Given the description of an element on the screen output the (x, y) to click on. 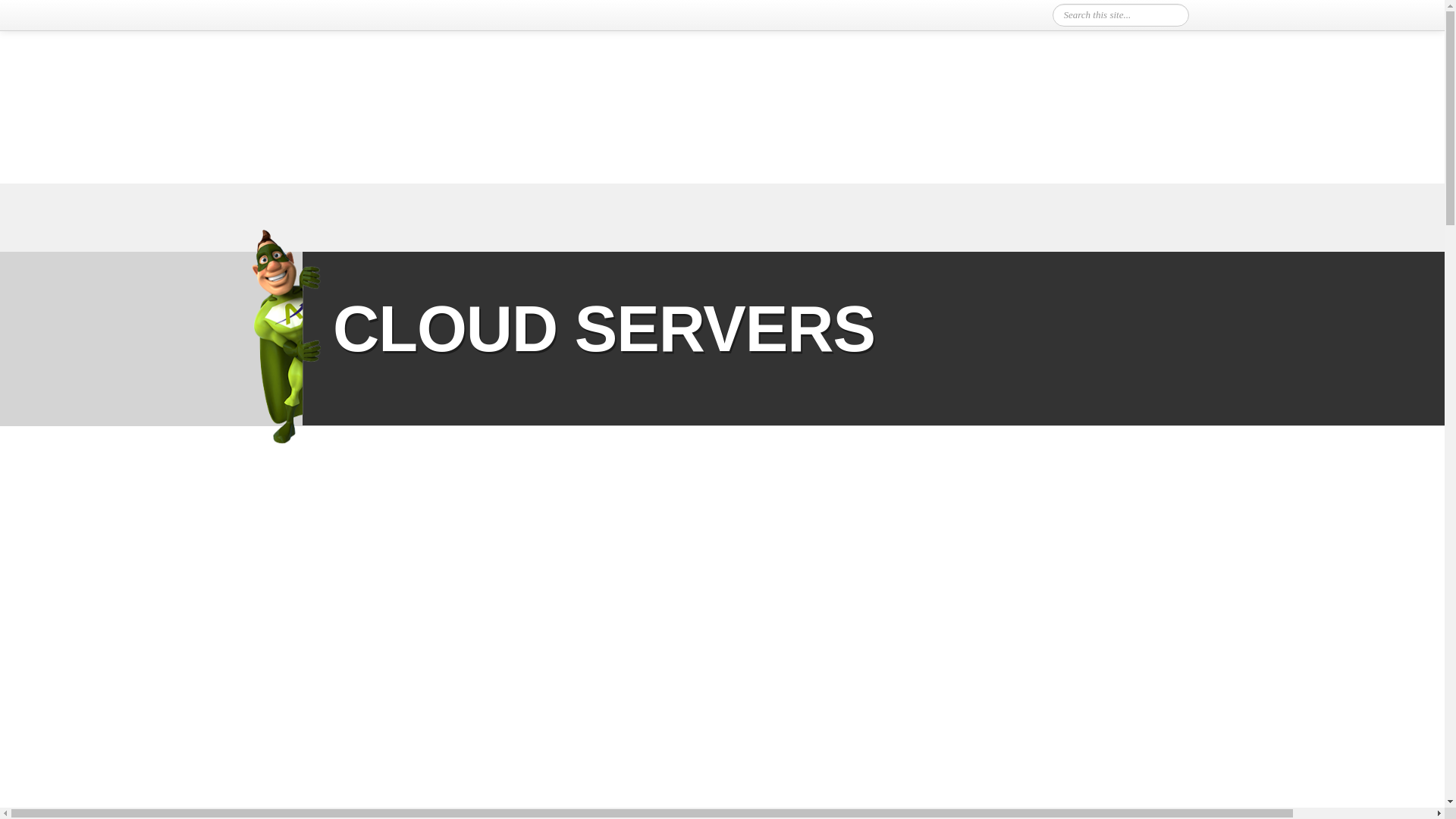
Search (1173, 15)
